Given the description of an element on the screen output the (x, y) to click on. 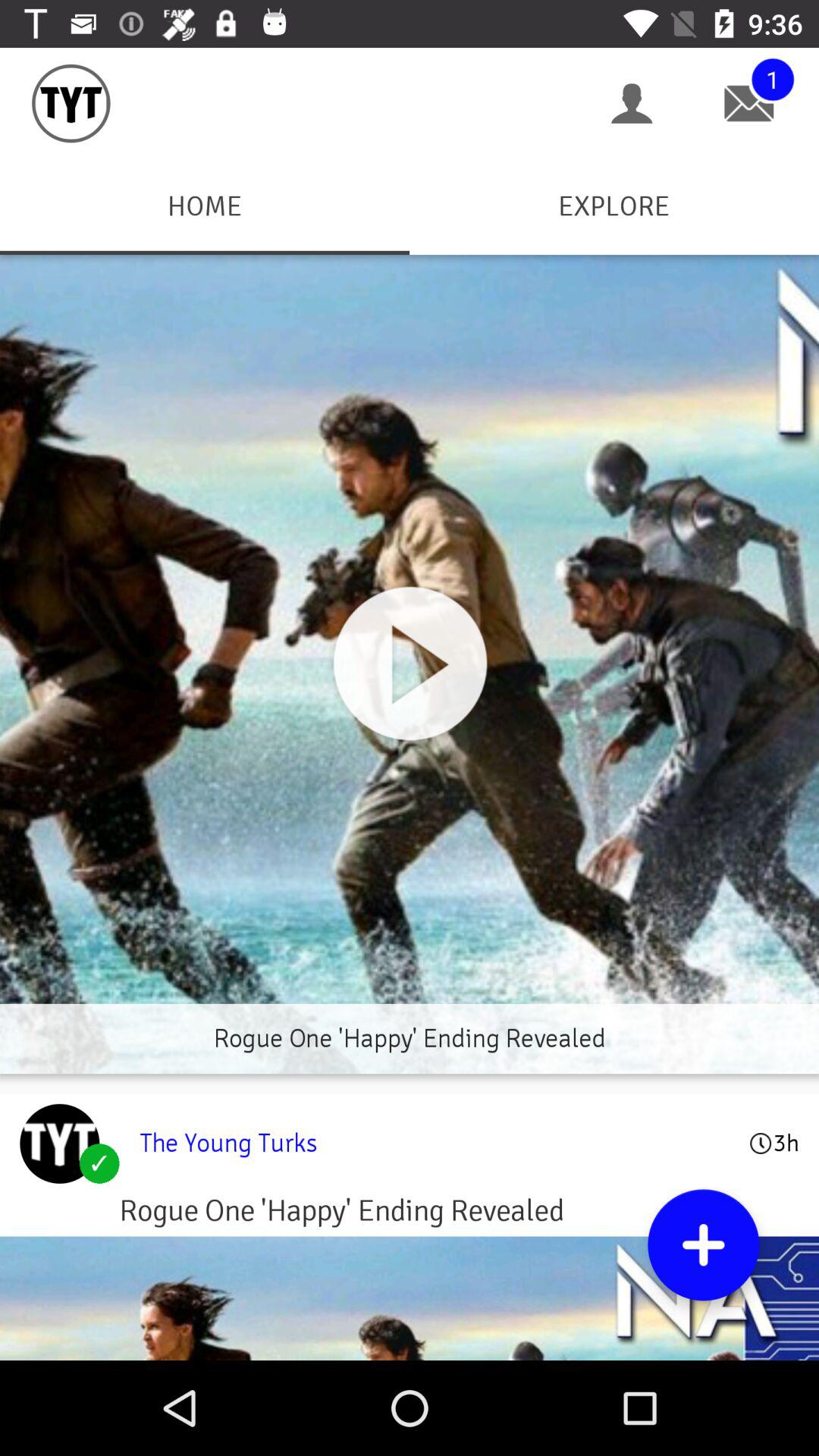
link to homepage (59, 1143)
